Given the description of an element on the screen output the (x, y) to click on. 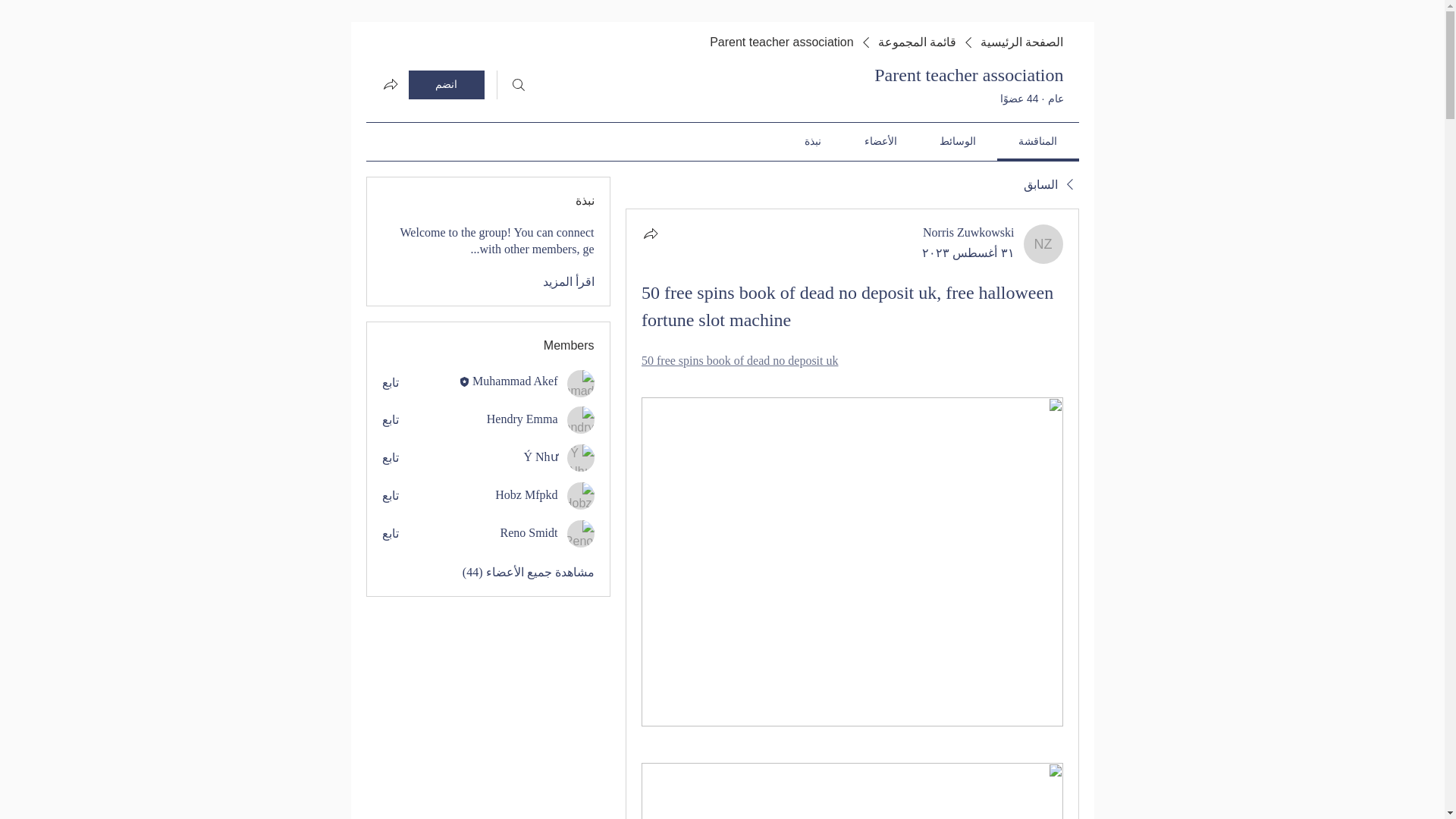
Reno Smidt (528, 532)
Norris Zuwkowski (1042, 243)
Muhammad Akef (580, 383)
Norris Zuwkowski (968, 232)
50 free spins book of dead no deposit uk (740, 359)
Hendry Emma (521, 418)
Muhammad Akef (514, 381)
Hobz Mfpkd (526, 494)
Norris Zuwkowski (968, 232)
Hobz Mfpkd (580, 495)
